Given the description of an element on the screen output the (x, y) to click on. 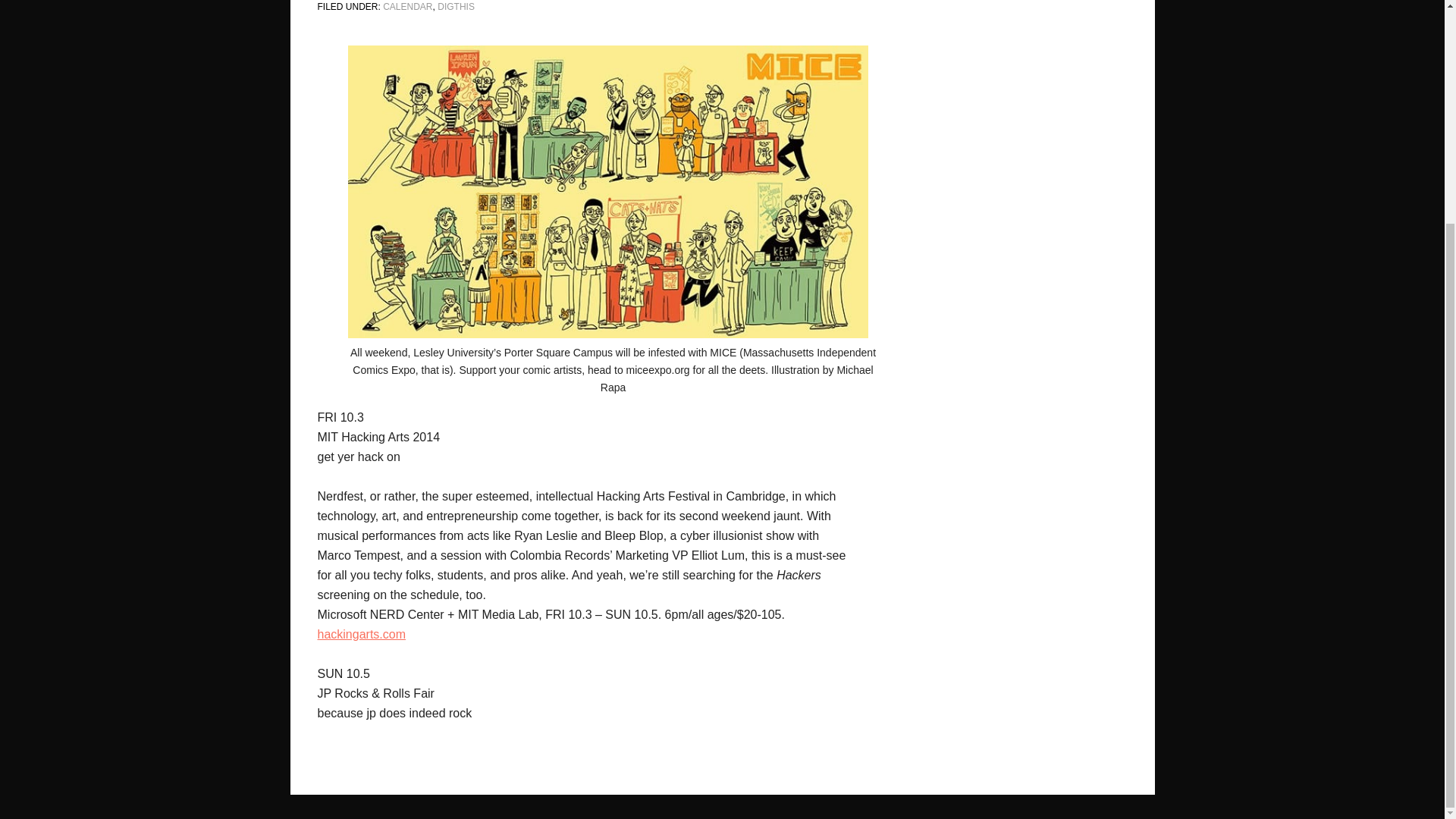
hackingarts.com (361, 634)
DIGTHIS (456, 6)
CALENDAR (407, 6)
